Given the description of an element on the screen output the (x, y) to click on. 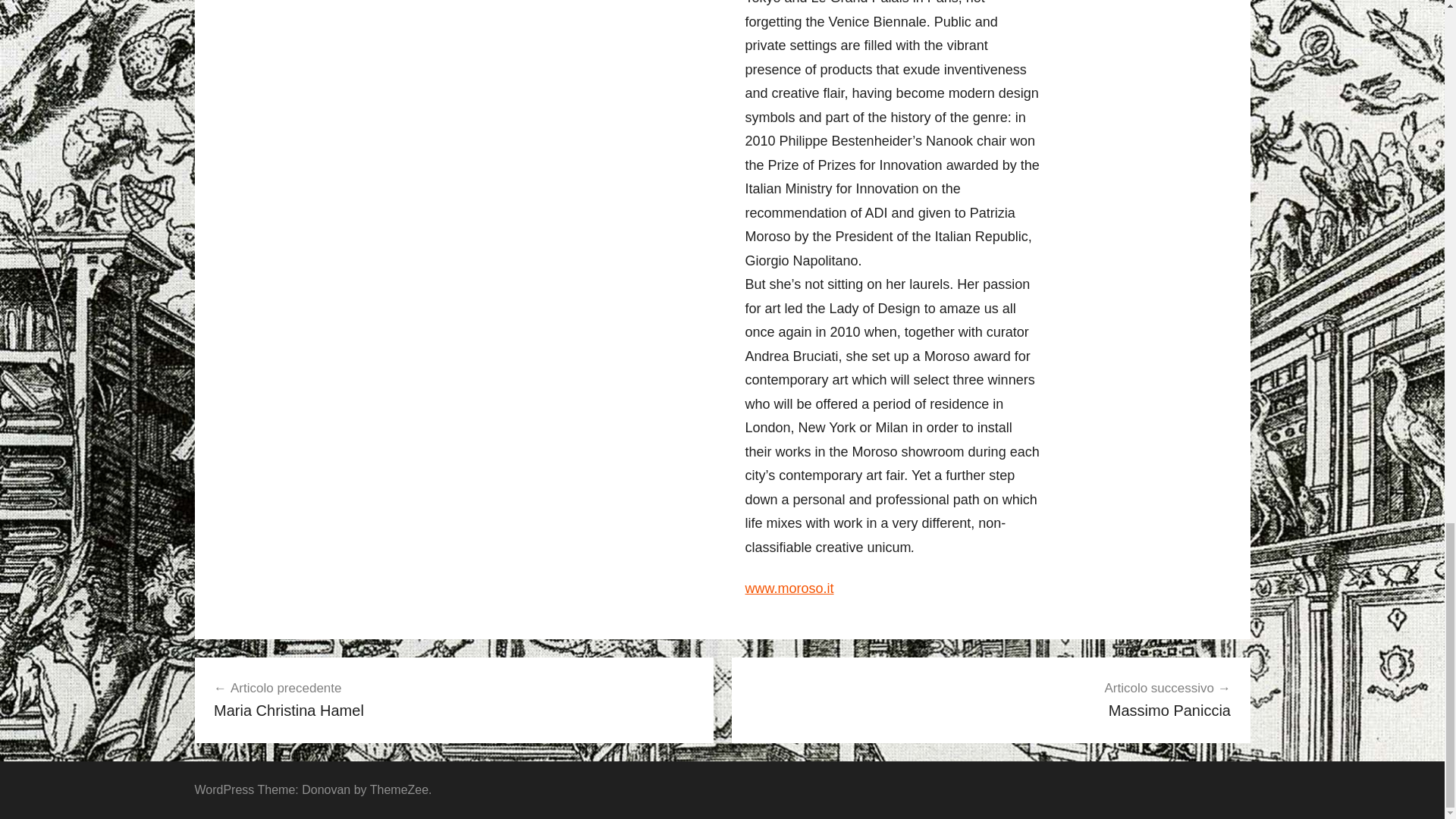
www.moroso.it (990, 699)
